Given the description of an element on the screen output the (x, y) to click on. 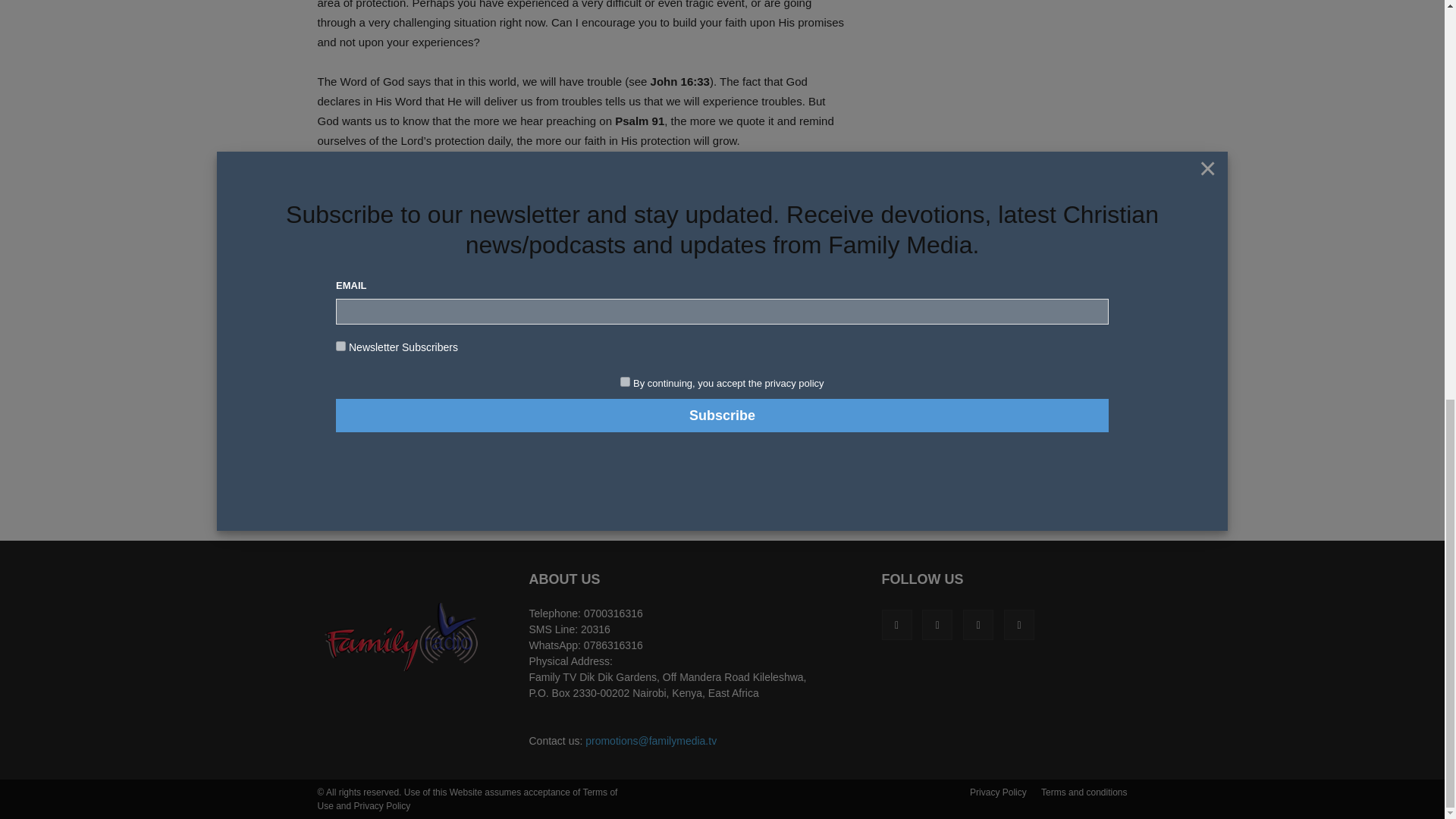
TBN FAMILY MEDIA (403, 636)
Facebook (895, 624)
